Given the description of an element on the screen output the (x, y) to click on. 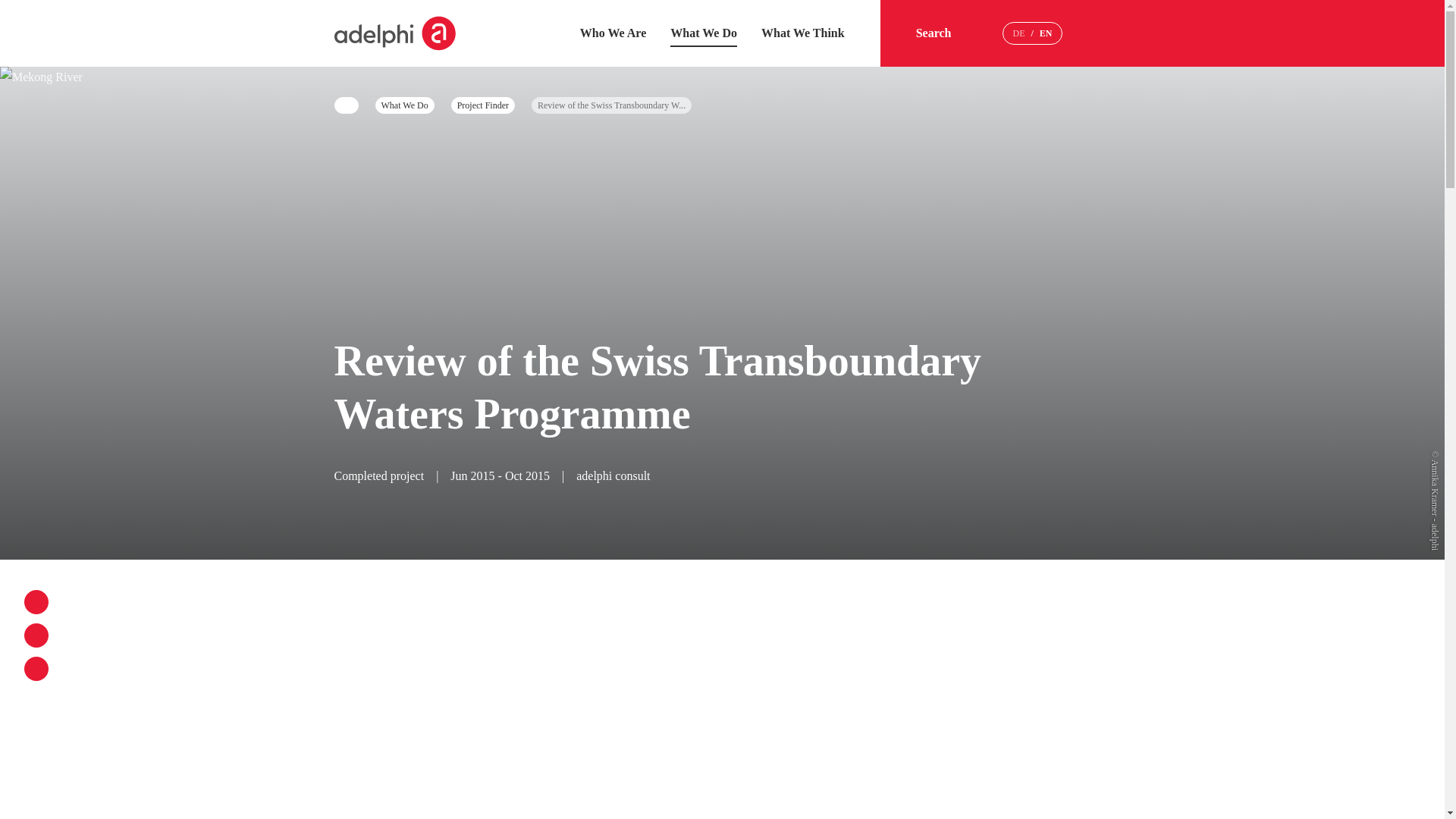
Who We Are (612, 32)
EN (1045, 32)
English (1045, 32)
What We Do (702, 32)
What We Think (802, 32)
Search (946, 33)
Deutsch (1018, 32)
Menu (1097, 33)
DE (1018, 32)
Home (394, 33)
